Given the description of an element on the screen output the (x, y) to click on. 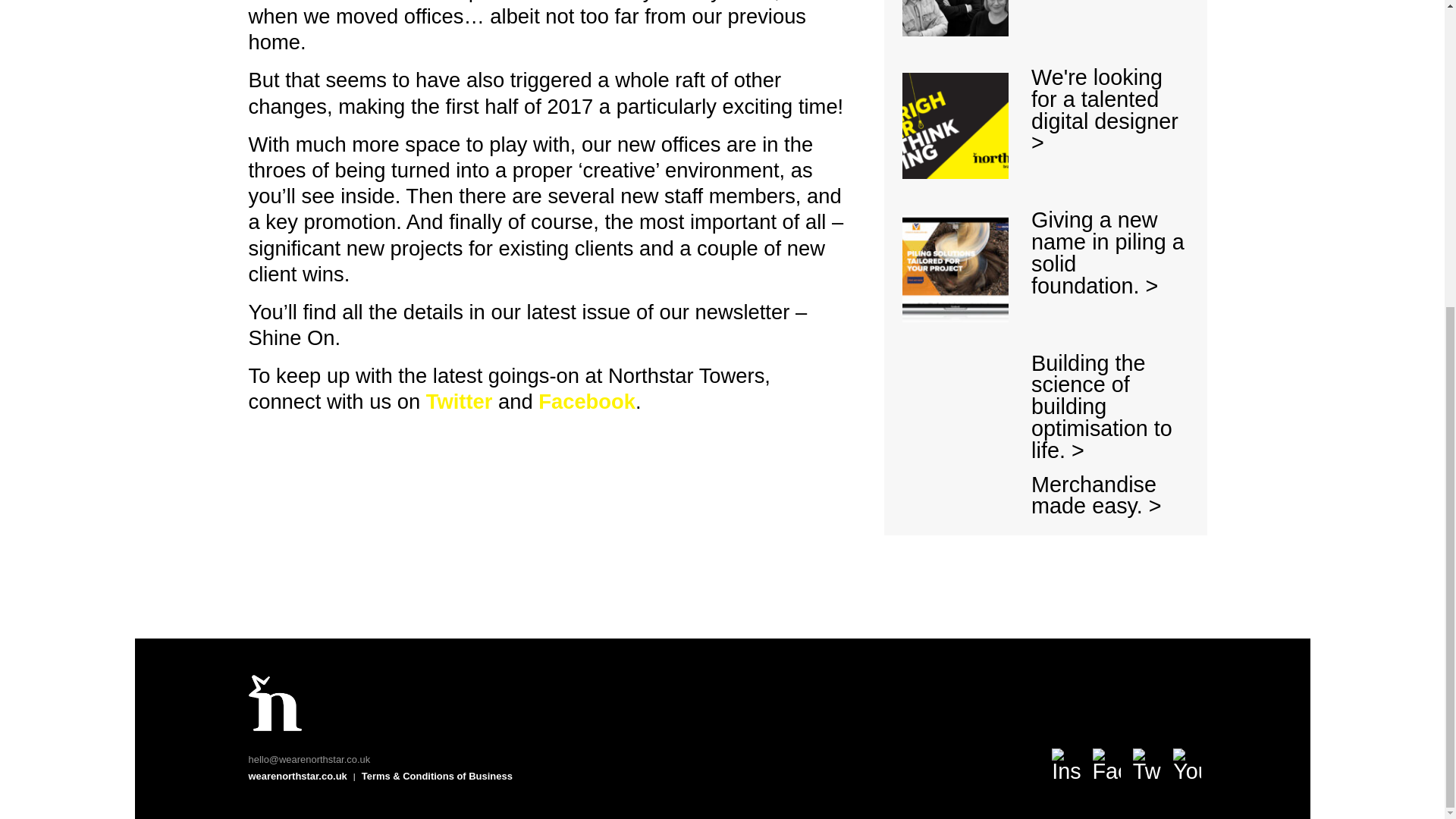
Twitter (459, 401)
Facebook (586, 401)
wearenorthstar.co.uk (297, 776)
